Given the description of an element on the screen output the (x, y) to click on. 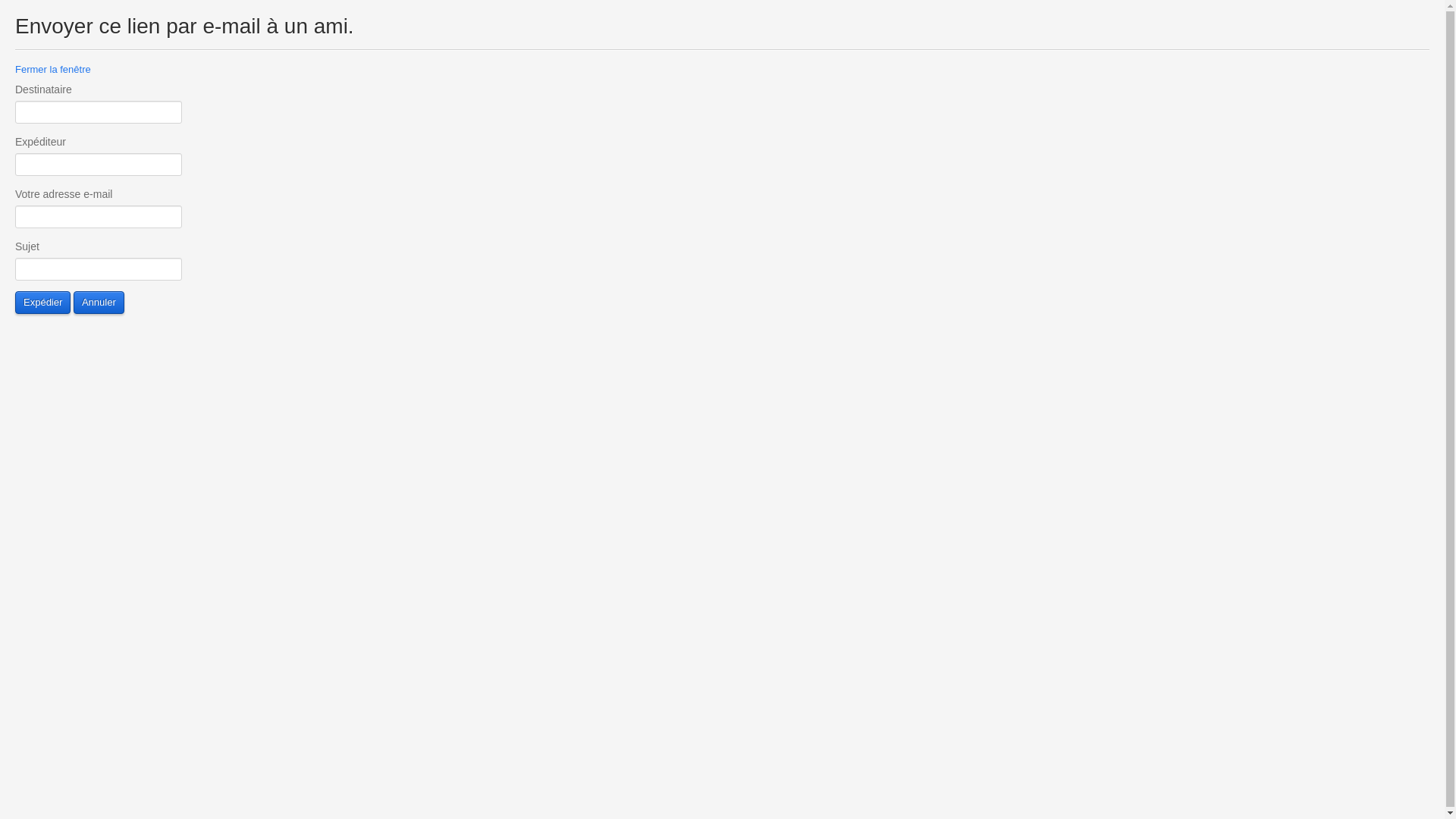
Annuler Element type: text (98, 302)
